Given the description of an element on the screen output the (x, y) to click on. 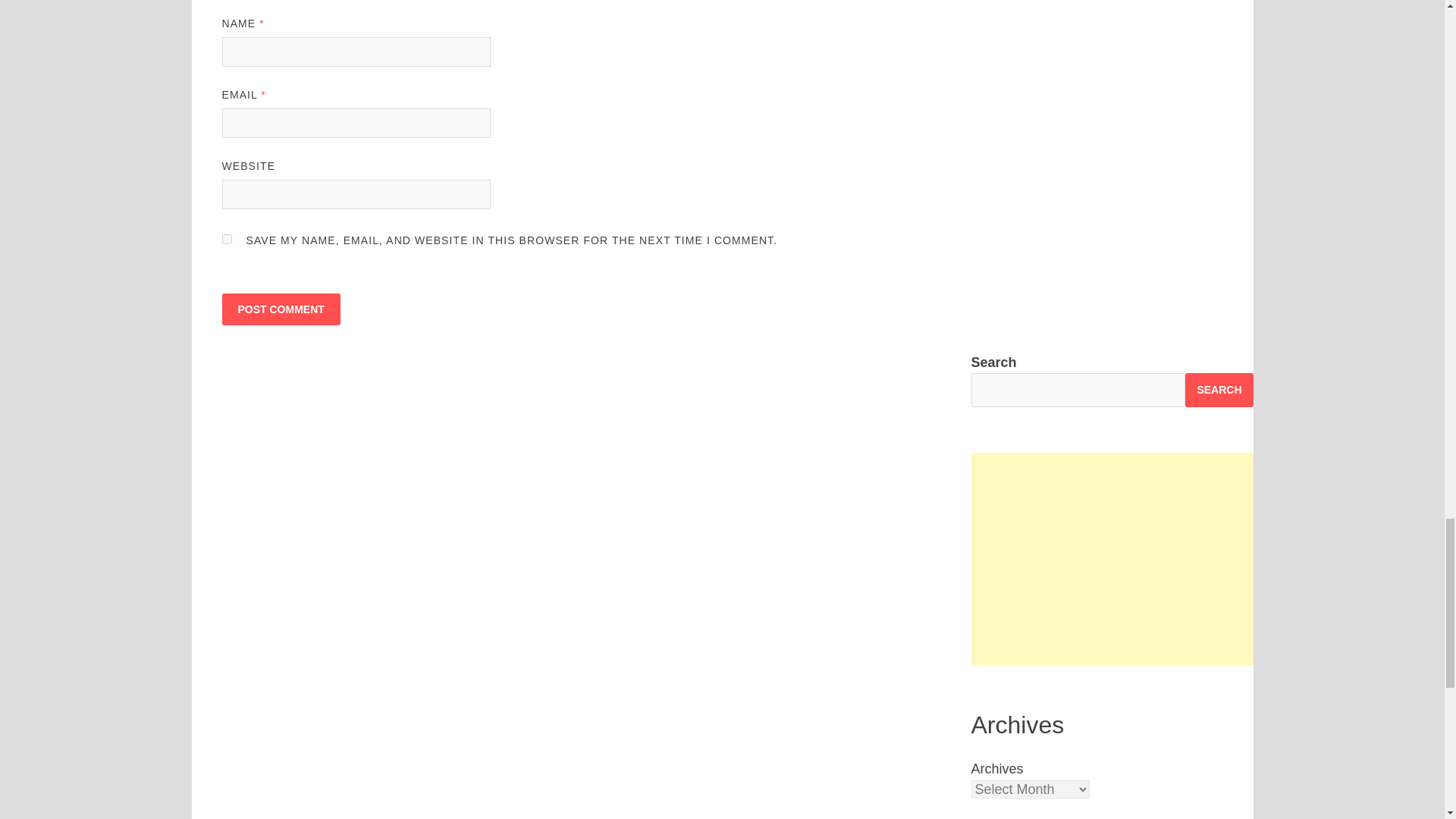
Advertisement (1111, 558)
yes (226, 239)
Post Comment (280, 309)
Post Comment (280, 309)
SEARCH (1218, 390)
